Given the description of an element on the screen output the (x, y) to click on. 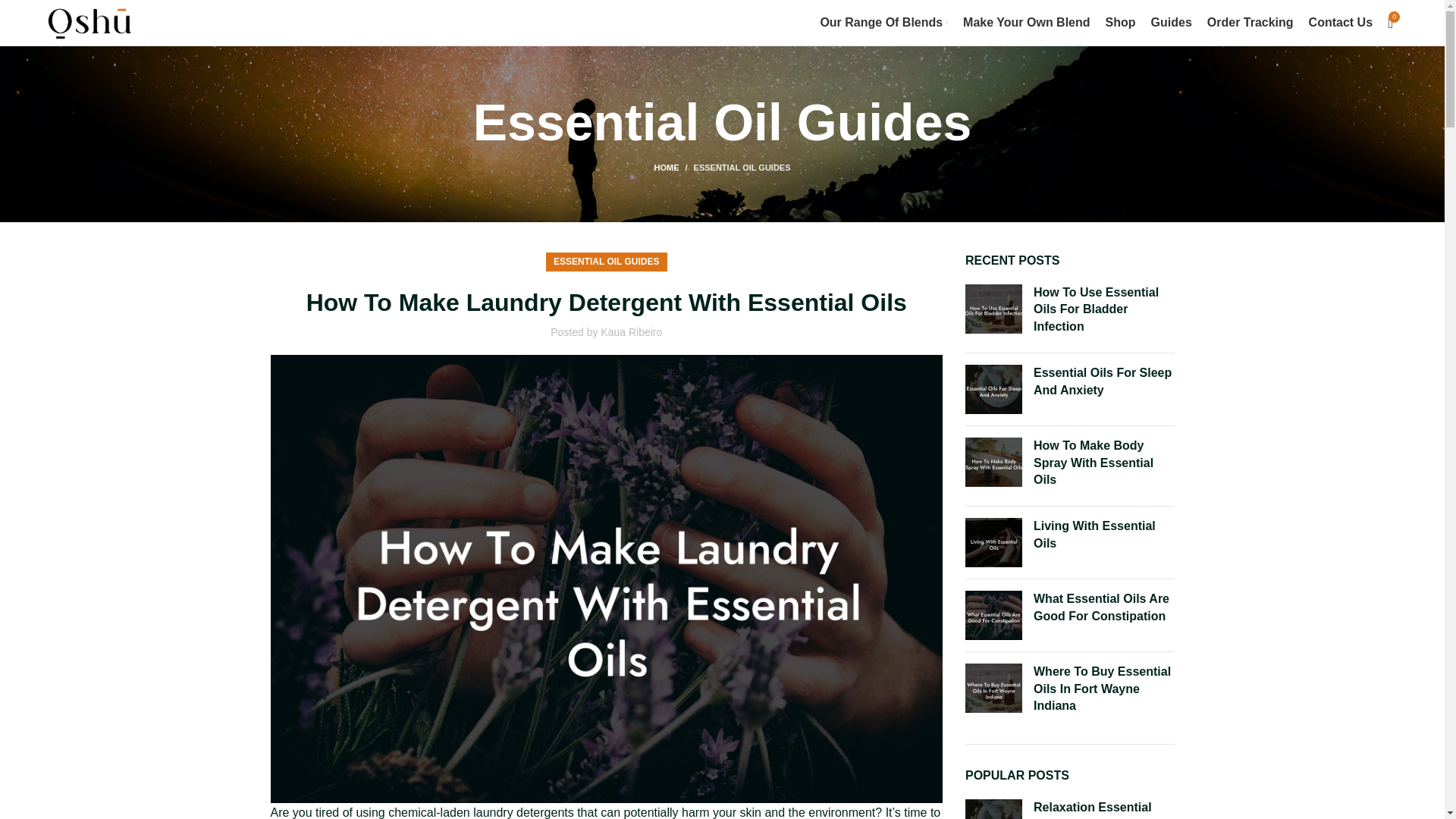
Contact Us (1340, 22)
Shop (1120, 22)
Make Your Own Blend (1025, 22)
Order Tracking (1250, 22)
Our Range Of Blends (883, 22)
Kaua Ribeiro (630, 331)
HOME (673, 167)
ESSENTIAL OIL GUIDES (742, 166)
ESSENTIAL OIL GUIDES (606, 261)
